Given the description of an element on the screen output the (x, y) to click on. 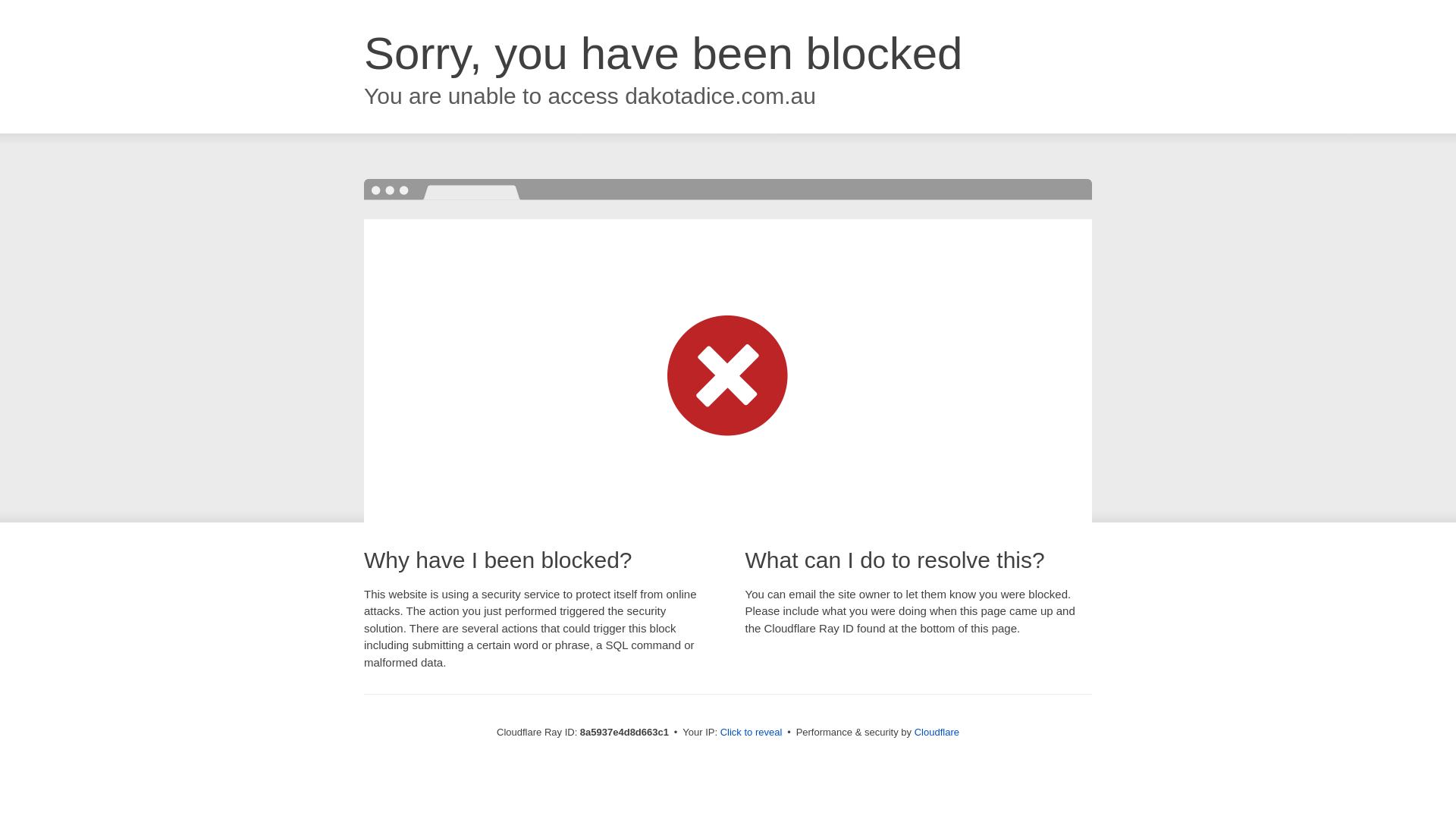
Cloudflare (936, 731)
Click to reveal (751, 732)
